Given the description of an element on the screen output the (x, y) to click on. 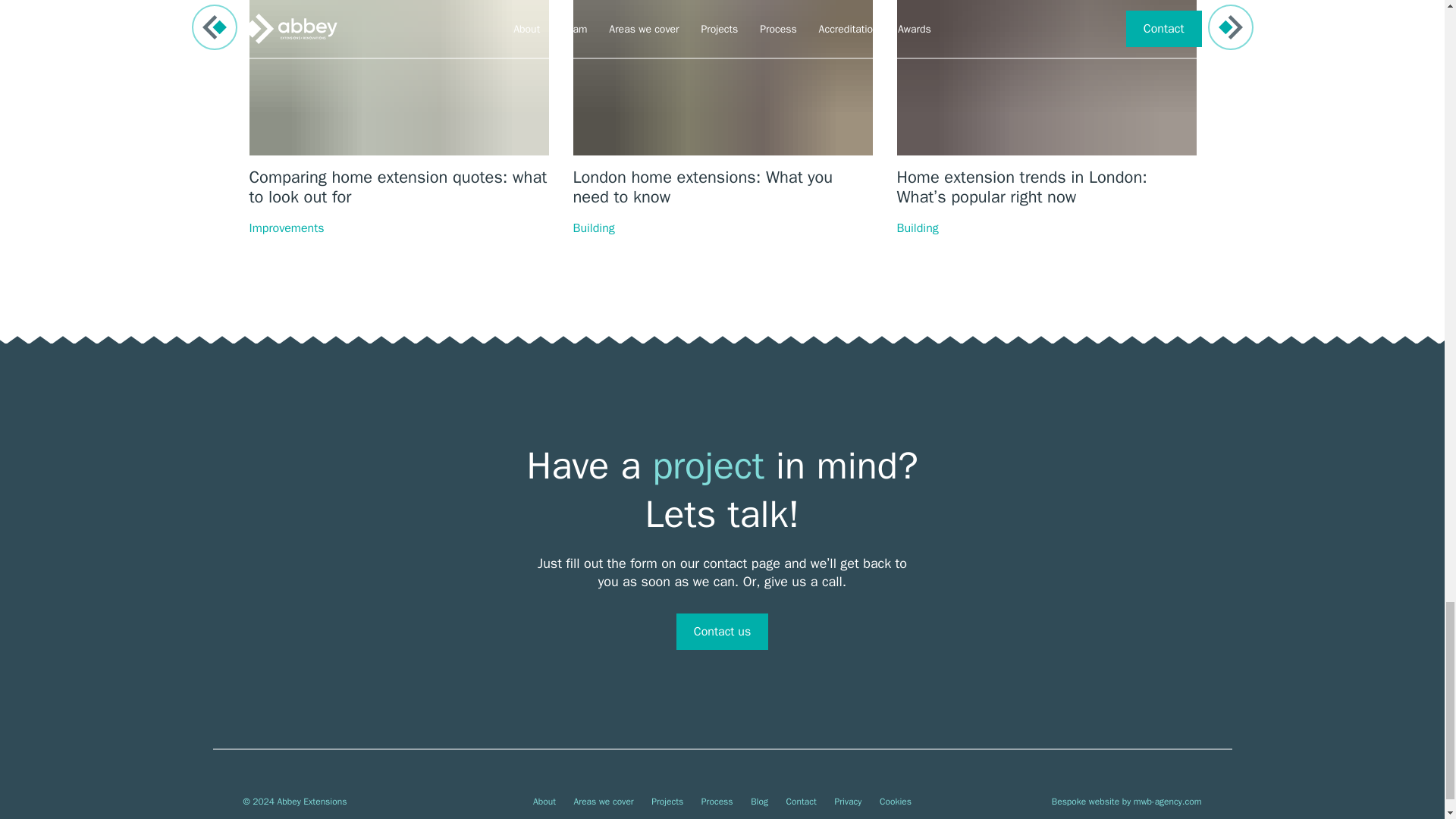
Bespoke website (1085, 801)
MWB Agency (1168, 801)
